Given the description of an element on the screen output the (x, y) to click on. 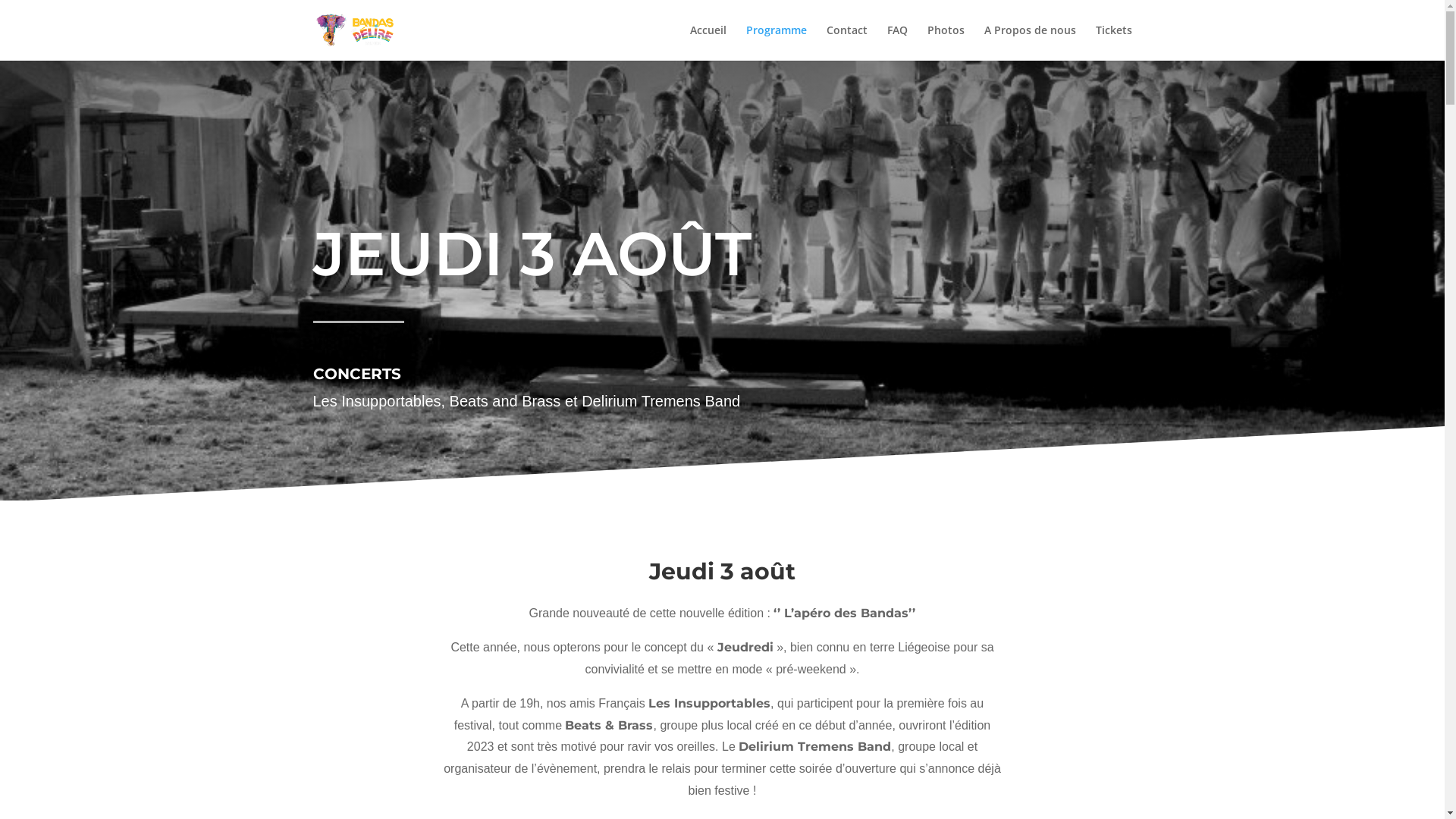
FAQ Element type: text (897, 42)
Accueil Element type: text (708, 42)
Tickets Element type: text (1113, 42)
A Propos de nous Element type: text (1030, 42)
Programme Element type: text (776, 42)
Photos Element type: text (944, 42)
Contact Element type: text (846, 42)
